Given the description of an element on the screen output the (x, y) to click on. 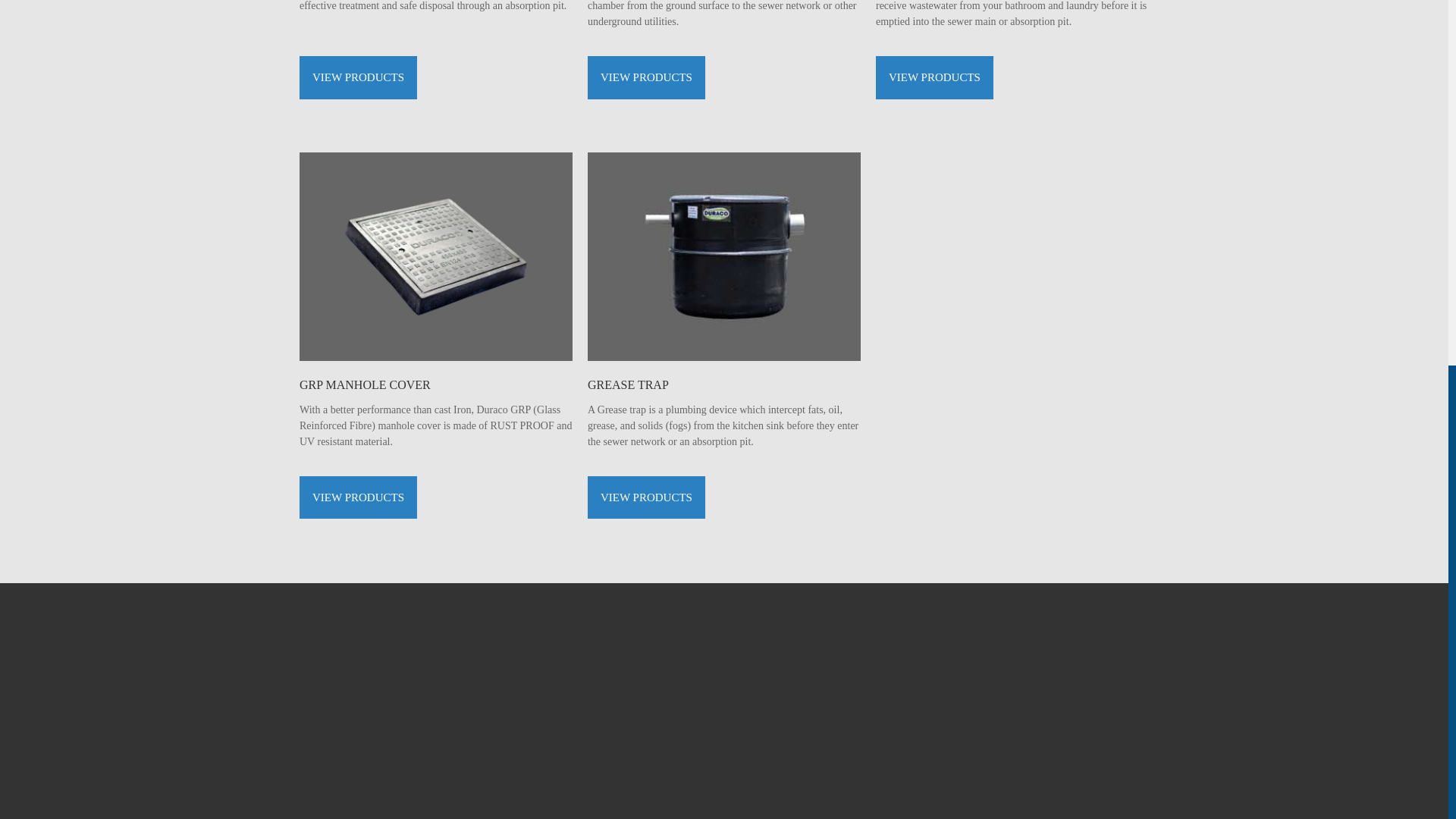
VIEW PRODUCTS (646, 77)
VIEW PRODUCTS (357, 497)
VIEW PRODUCTS (646, 497)
VIEW PRODUCTS (934, 77)
VIEW PRODUCTS (357, 77)
